Given the description of an element on the screen output the (x, y) to click on. 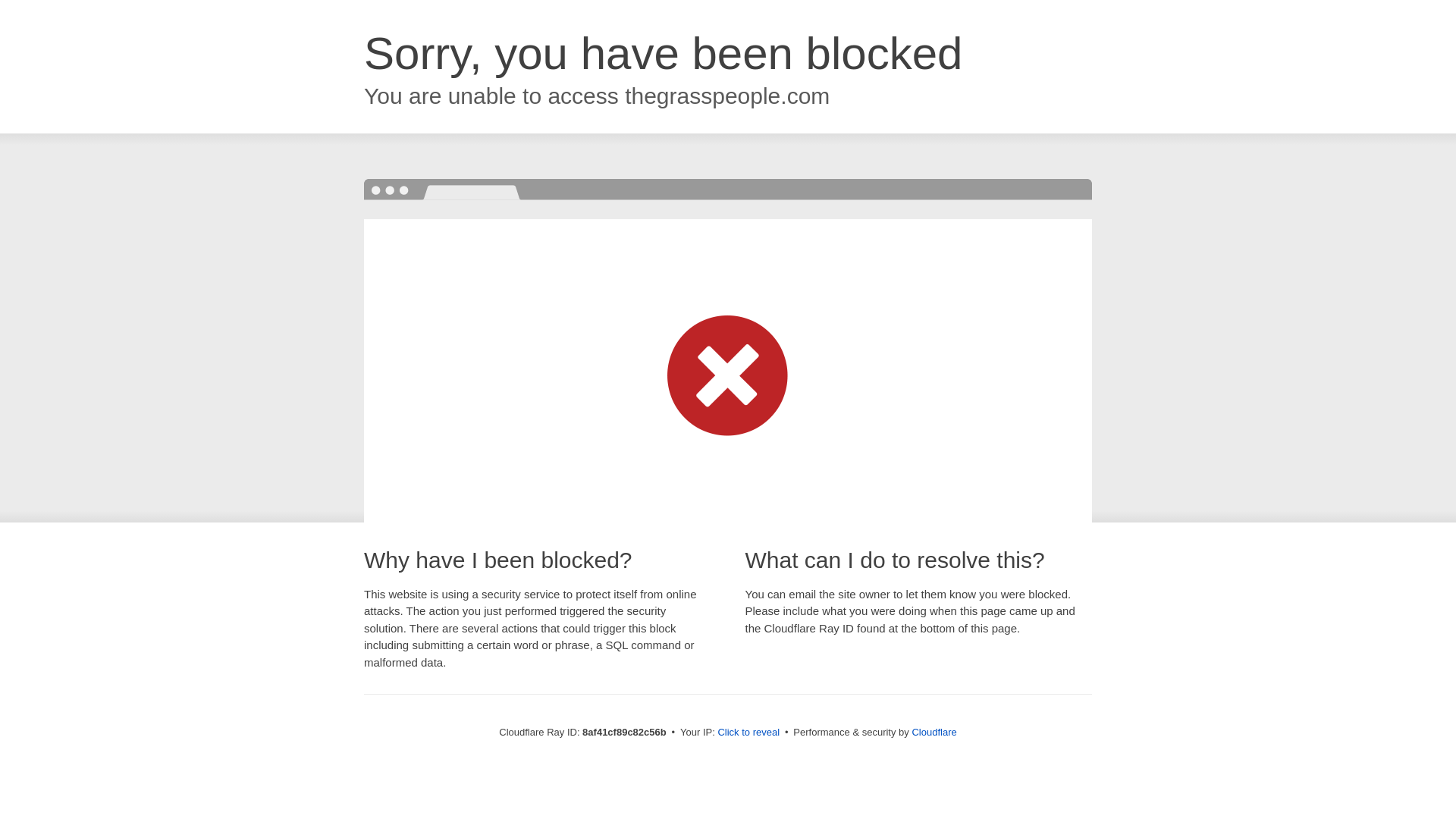
Cloudflare (933, 731)
Click to reveal (747, 732)
